Given the description of an element on the screen output the (x, y) to click on. 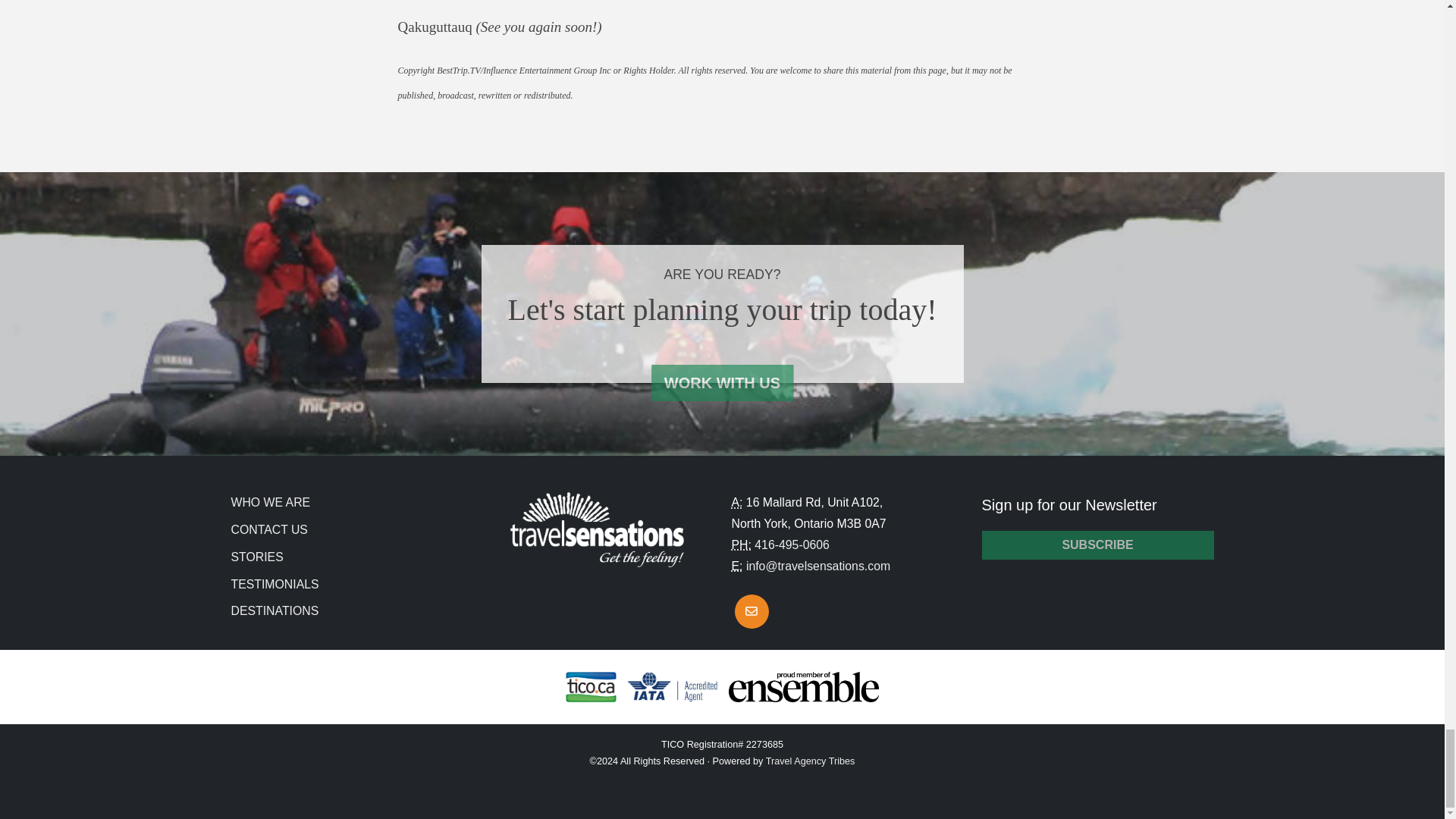
DESTINATIONS (274, 610)
SUBSCRIBE (1096, 544)
CONTACT US (268, 529)
Ensemble (804, 686)
Phone (740, 544)
Email (736, 565)
416-495-0606 (791, 544)
WHO WE ARE (270, 502)
WORK WITH US (721, 382)
TICO (590, 686)
Address (736, 502)
TESTIMONIALS (274, 584)
IATA (672, 686)
STORIES (256, 556)
